Given the description of an element on the screen output the (x, y) to click on. 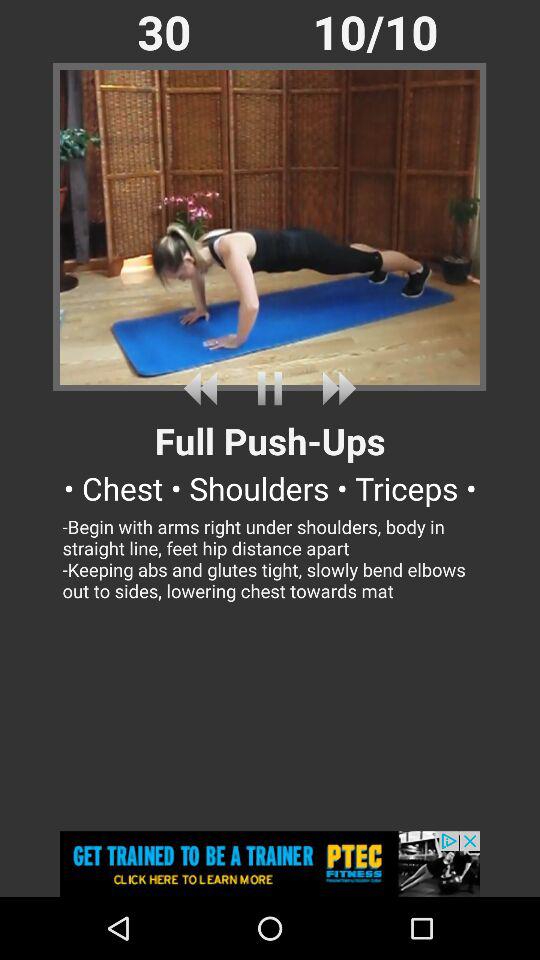
backward (204, 388)
